Given the description of an element on the screen output the (x, y) to click on. 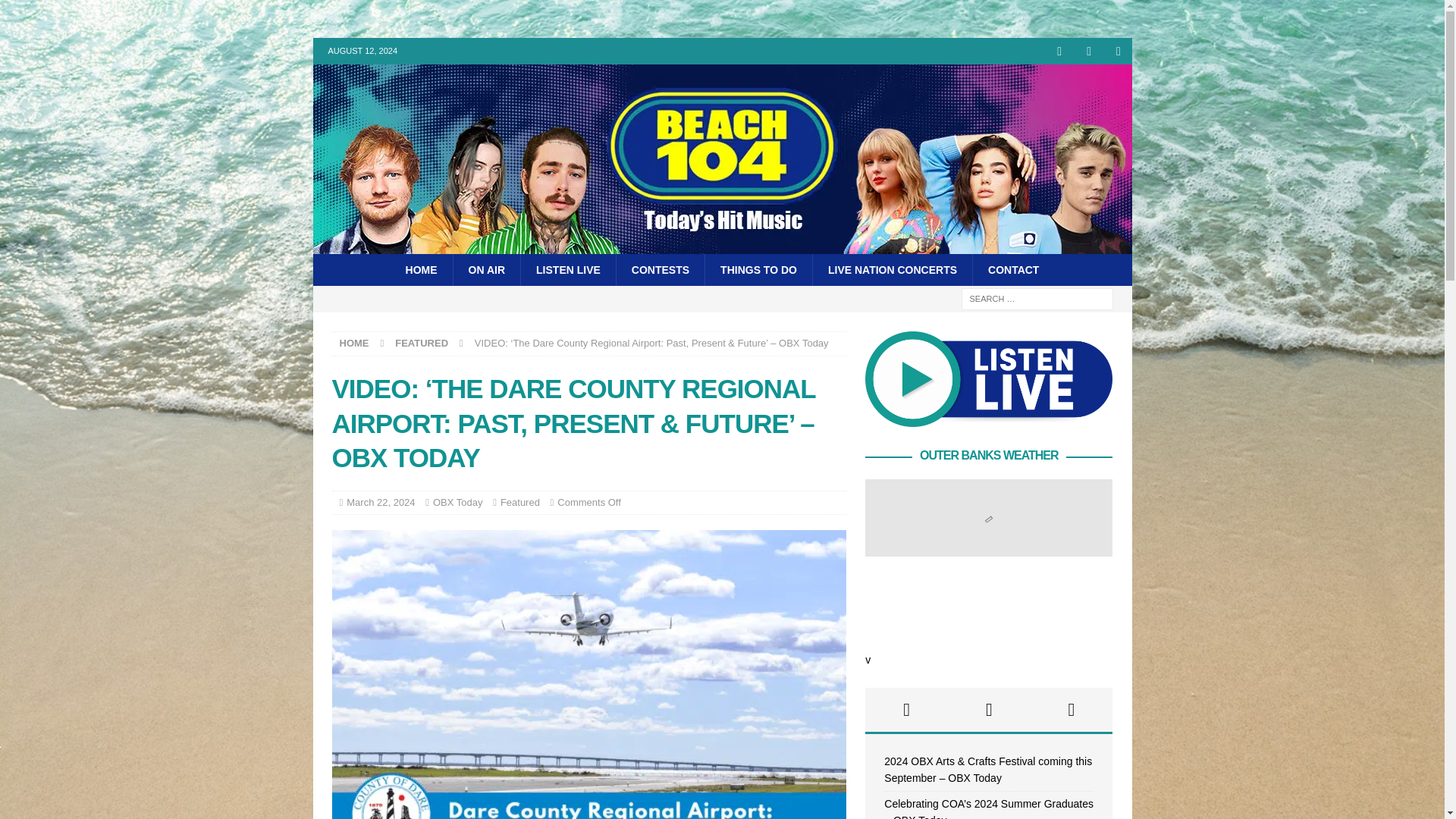
Beach 104 (722, 245)
CONTACT (1013, 269)
March 22, 2024 (380, 501)
LISTEN LIVE (567, 269)
LIVE NATION CONCERTS (892, 269)
FEATURED (421, 342)
THINGS TO DO (758, 269)
HOME (354, 342)
Search (56, 11)
HOME (421, 269)
